Given the description of an element on the screen output the (x, y) to click on. 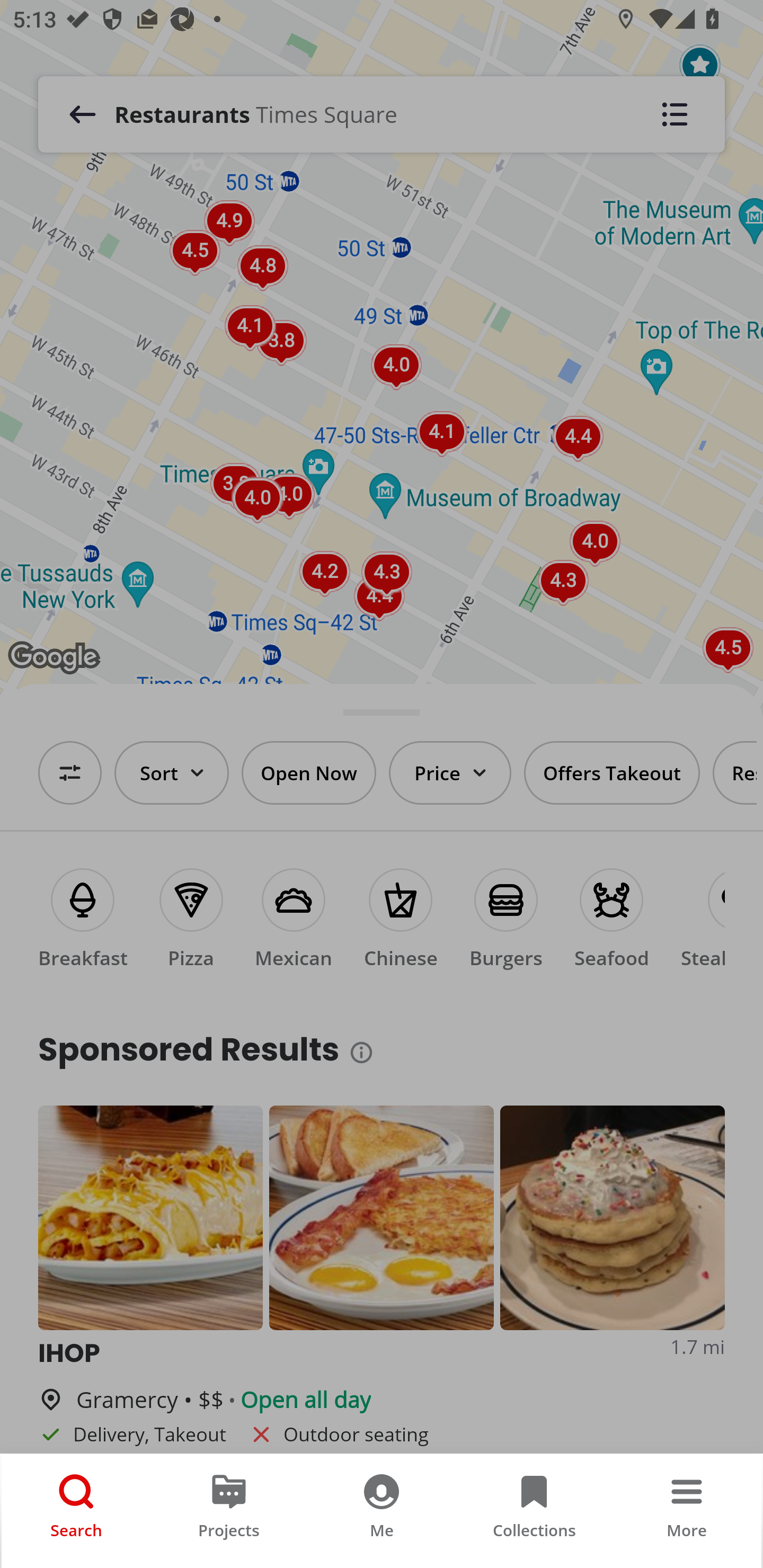
Sort (171, 772)
